Given the description of an element on the screen output the (x, y) to click on. 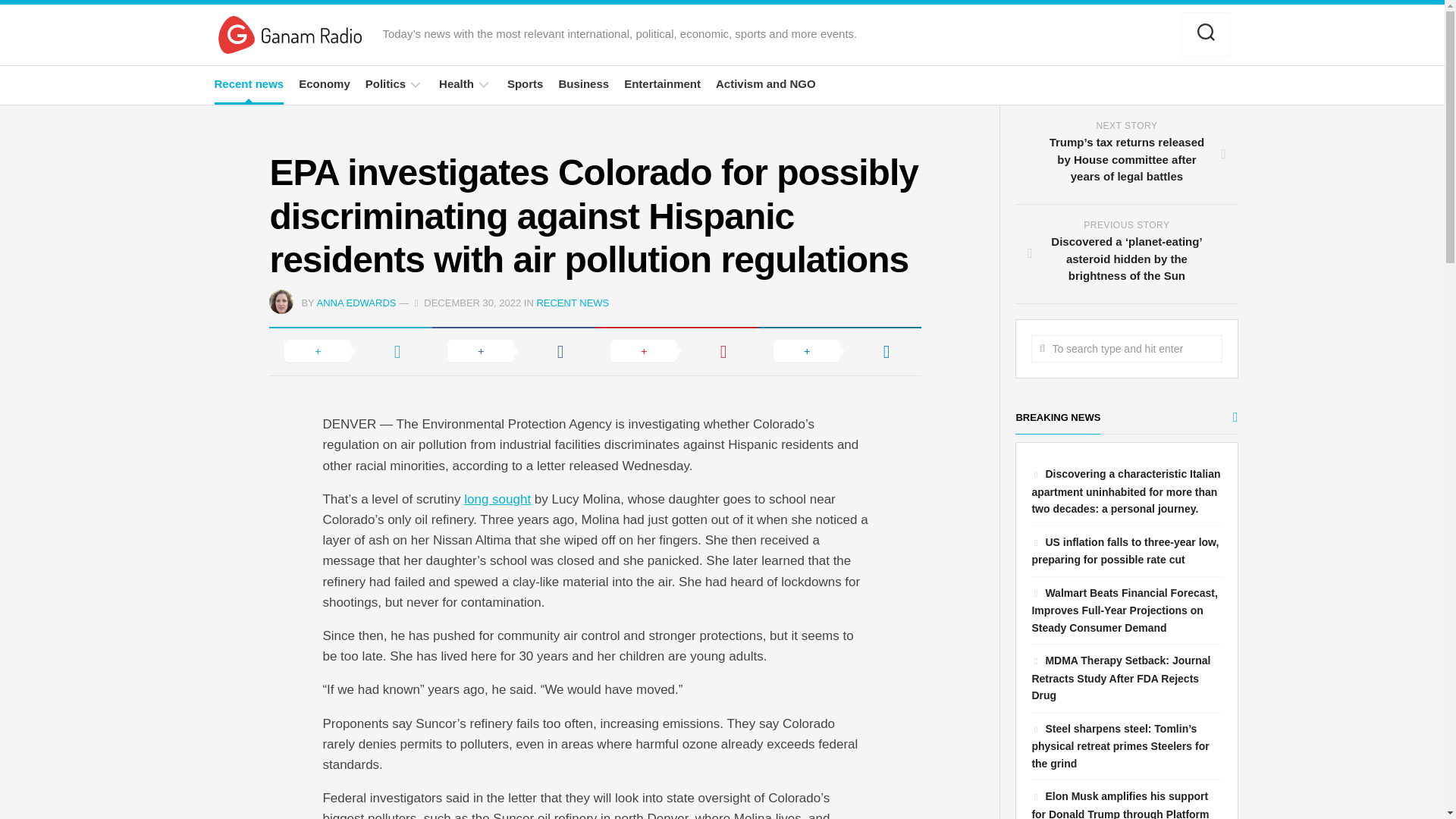
Share on Facebook (513, 350)
Business (582, 83)
Activism and NGO (765, 83)
Sports (524, 83)
To search type and hit enter (1125, 348)
Politics (385, 83)
Recent news (248, 83)
ANNA EDWARDS (355, 302)
Entertainment (662, 83)
Share on Pinterest (676, 350)
